Given the description of an element on the screen output the (x, y) to click on. 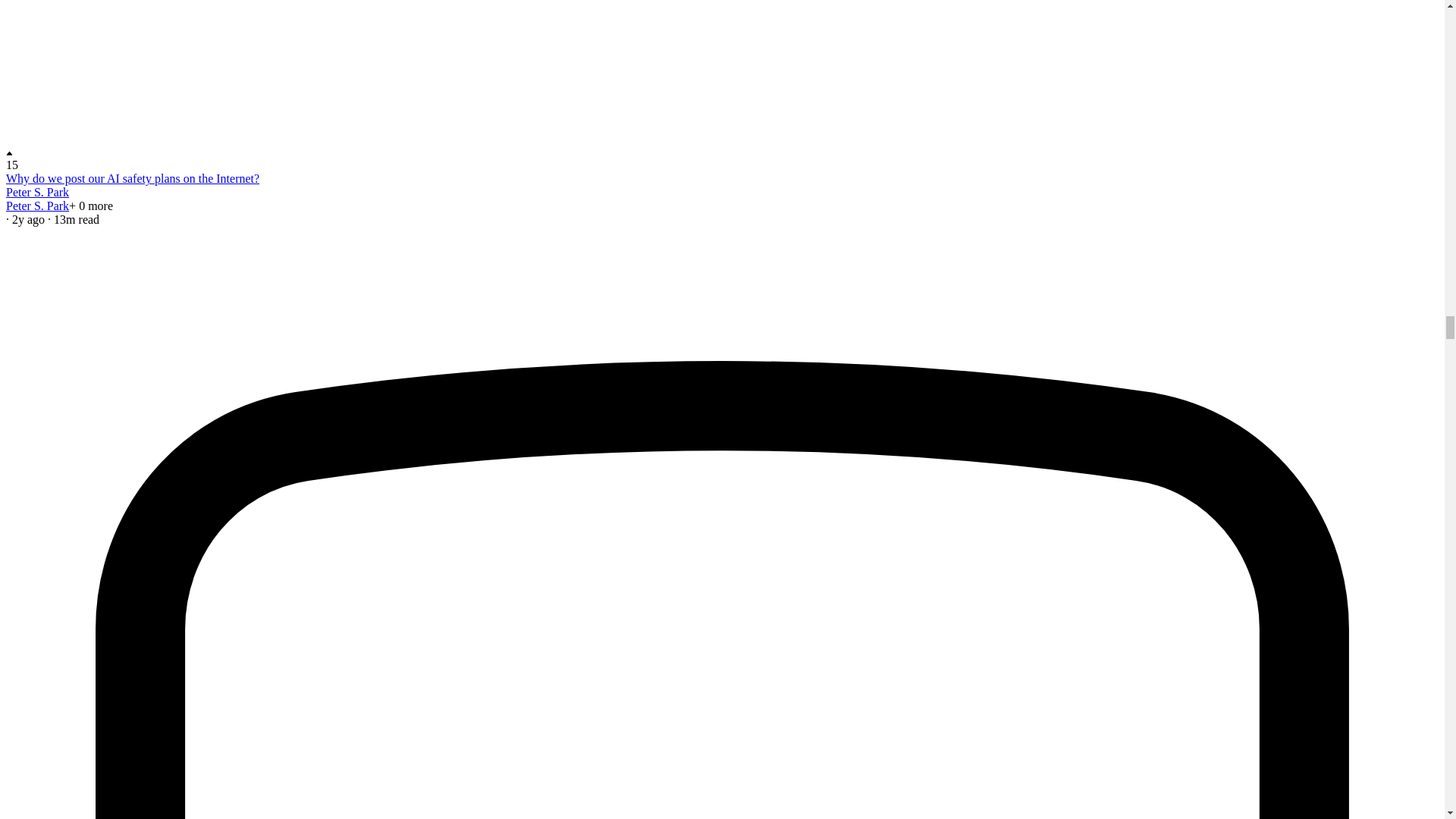
Peter S. Park (36, 205)
Why do we post our AI safety plans on the Internet? (132, 178)
Peter S. Park (36, 192)
